Given the description of an element on the screen output the (x, y) to click on. 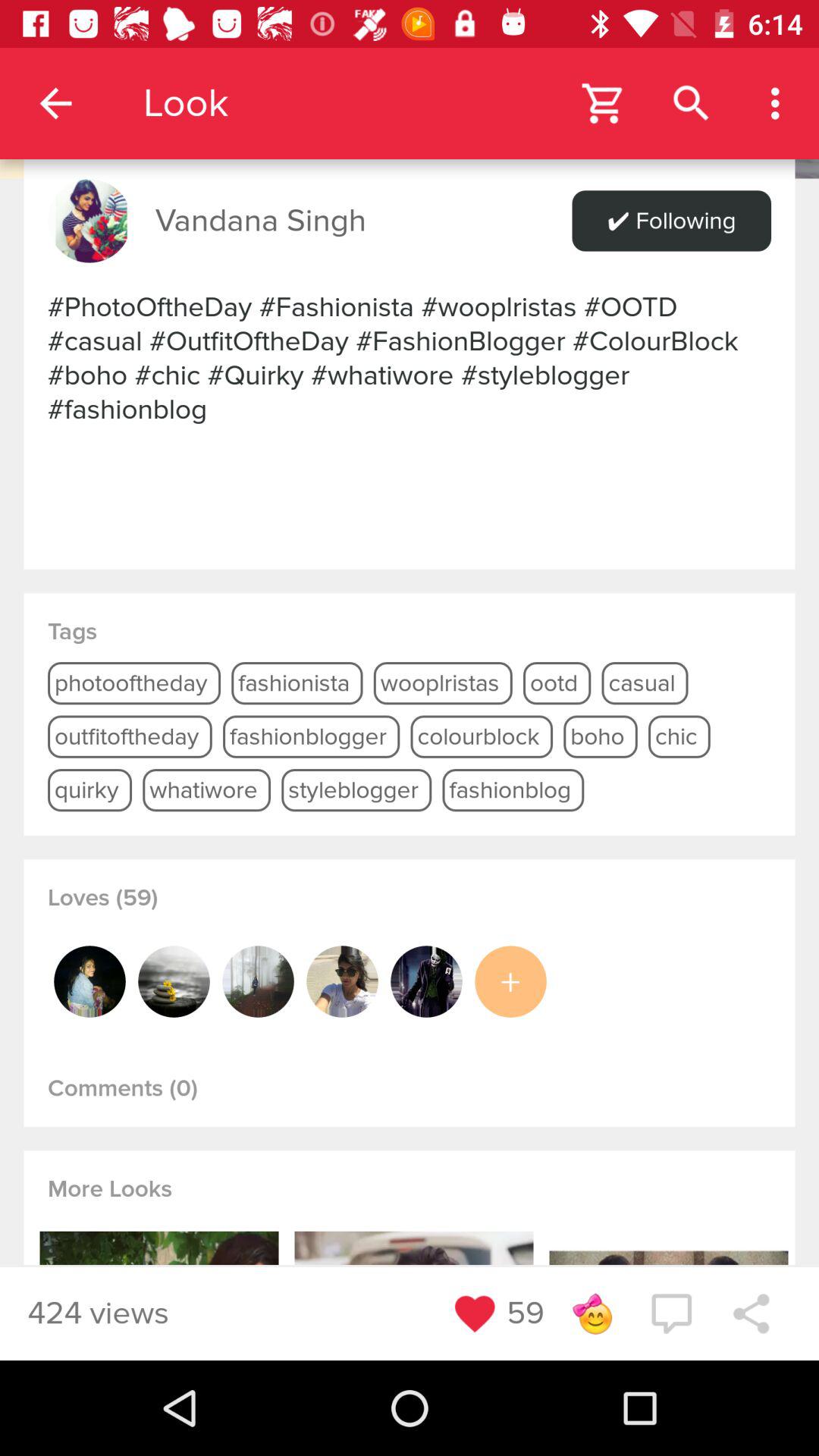
tap the item next to the 59 icon (591, 1313)
